Given the description of an element on the screen output the (x, y) to click on. 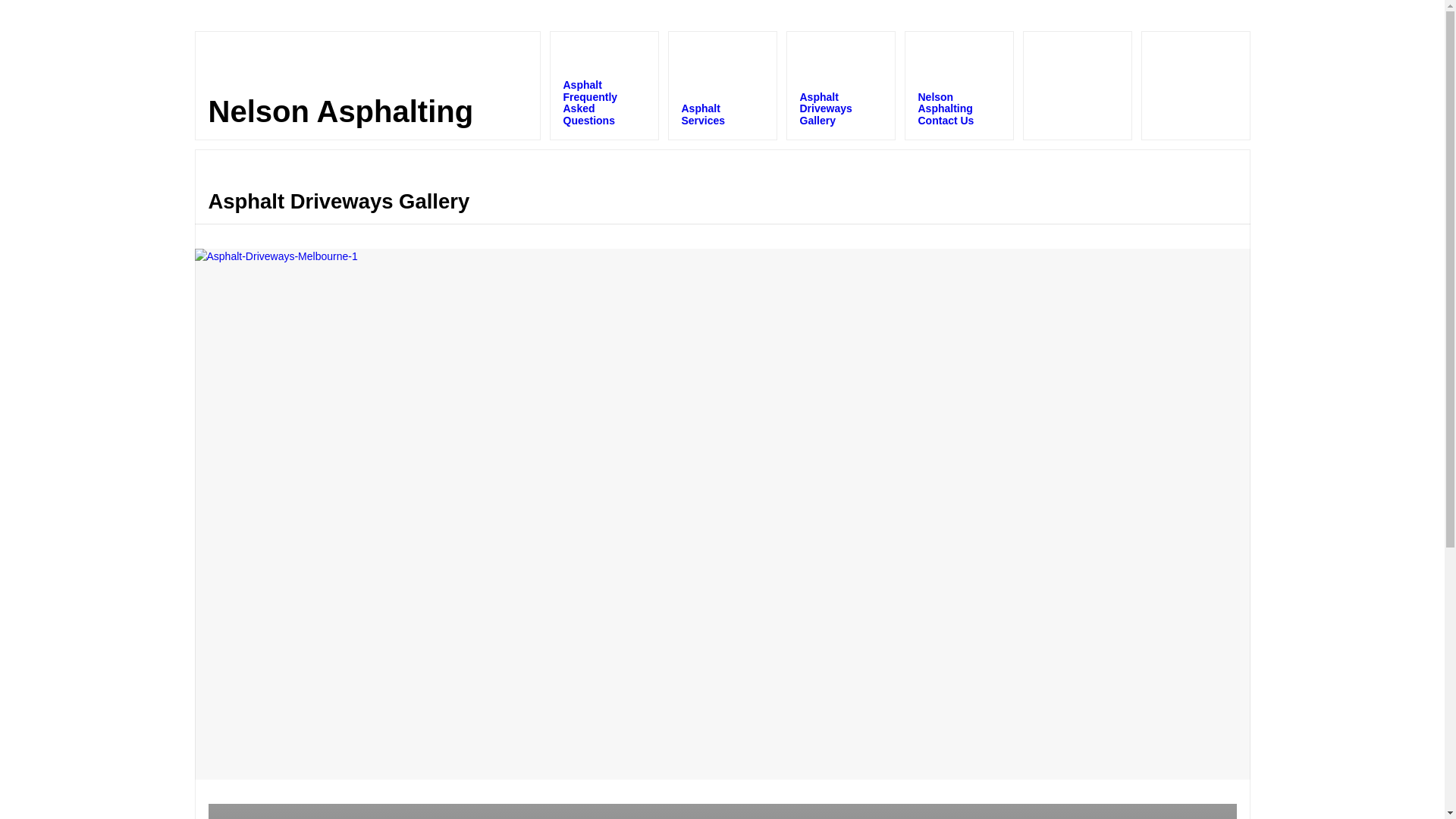
Nelson Asphalting Contact Us Element type: text (958, 85)
Nelson Asphalting Element type: text (340, 111)
Asphalt Services Element type: text (721, 85)
Asphalt Driveways Gallery Element type: text (839, 85)
Asphalt Frequently Asked Questions Element type: text (603, 85)
